Given the description of an element on the screen output the (x, y) to click on. 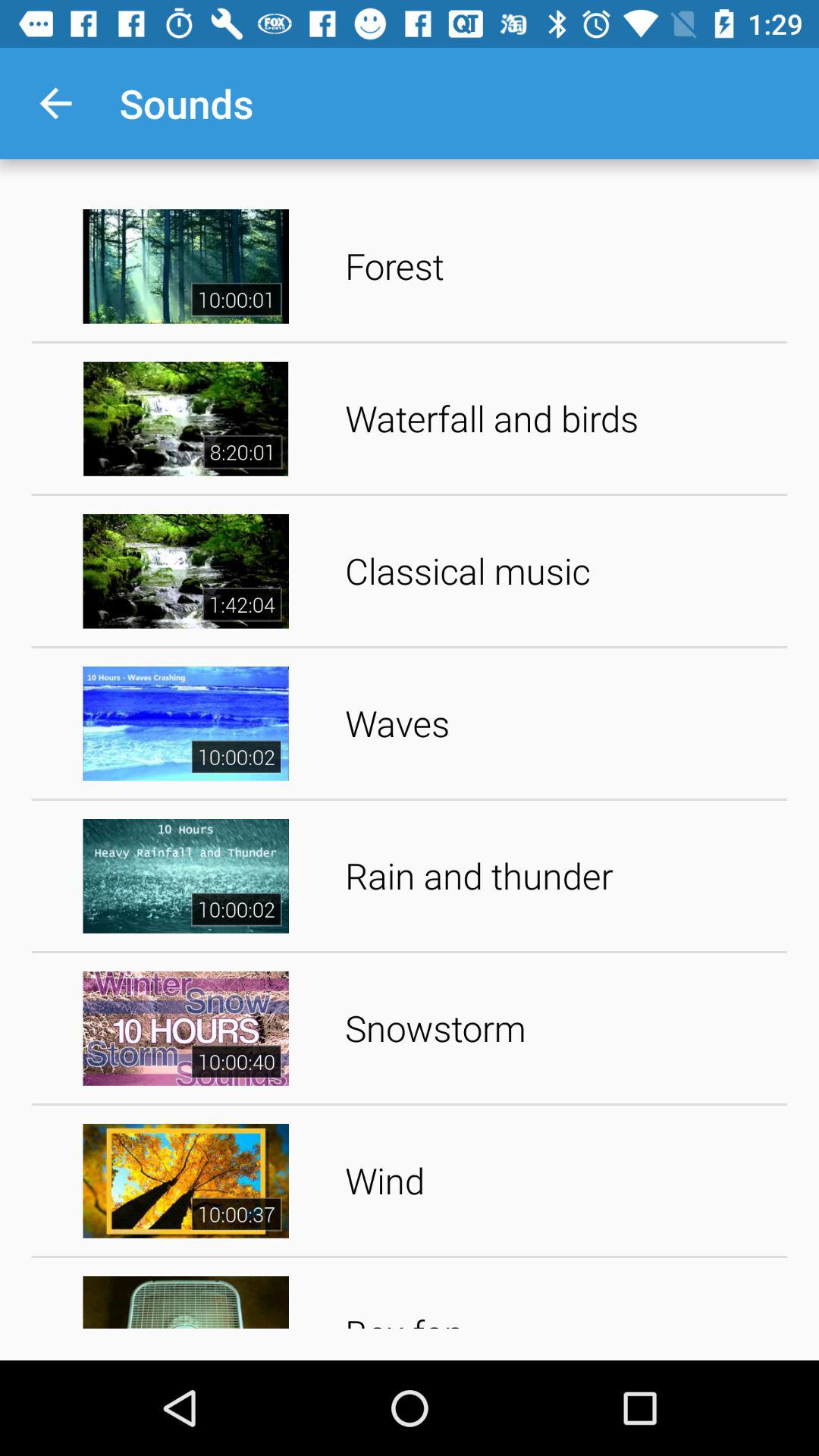
choose icon above the rain and thunder item (560, 723)
